Given the description of an element on the screen output the (x, y) to click on. 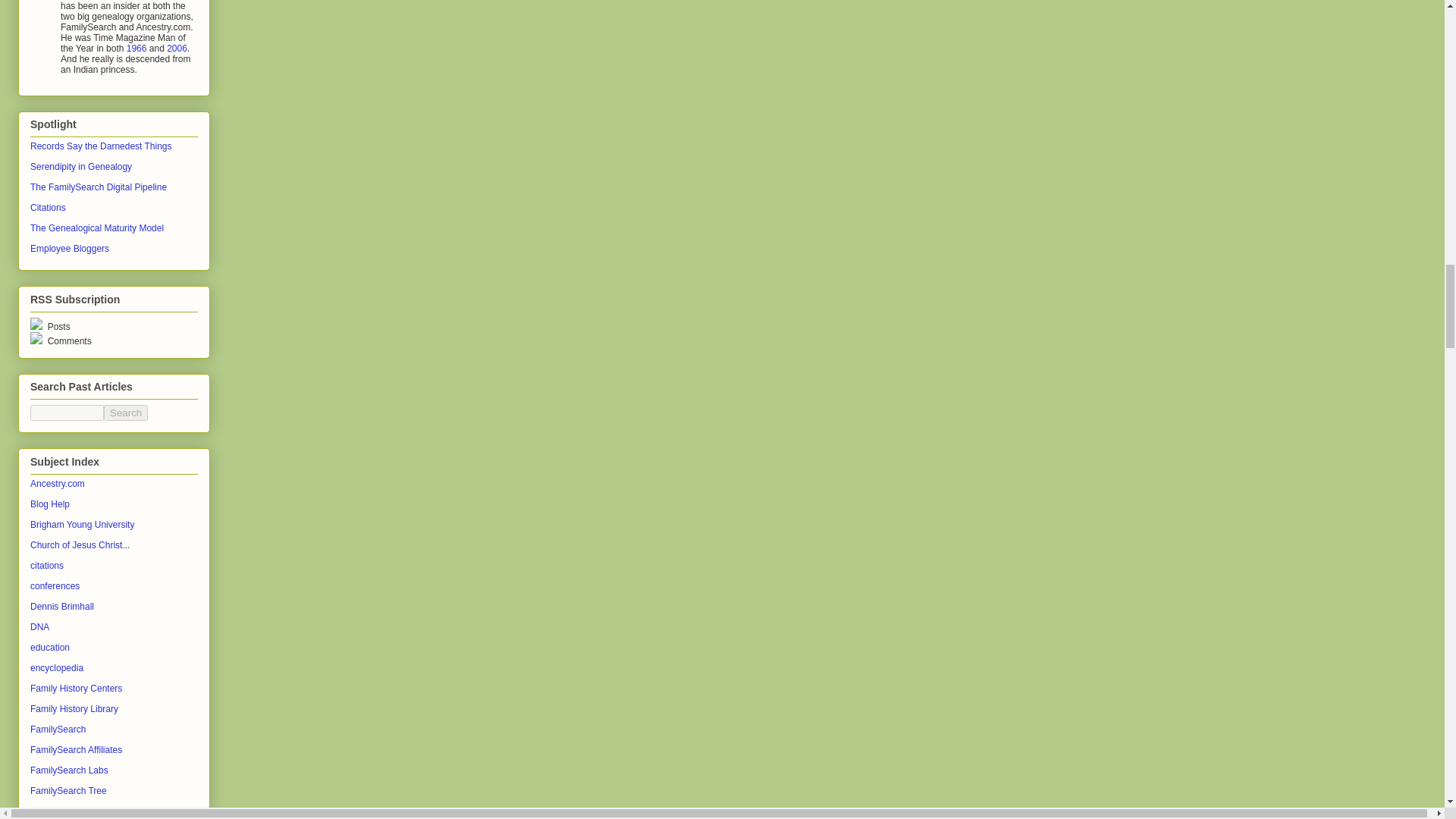
Search (125, 412)
search (66, 412)
search (125, 412)
Search (125, 412)
